Given the description of an element on the screen output the (x, y) to click on. 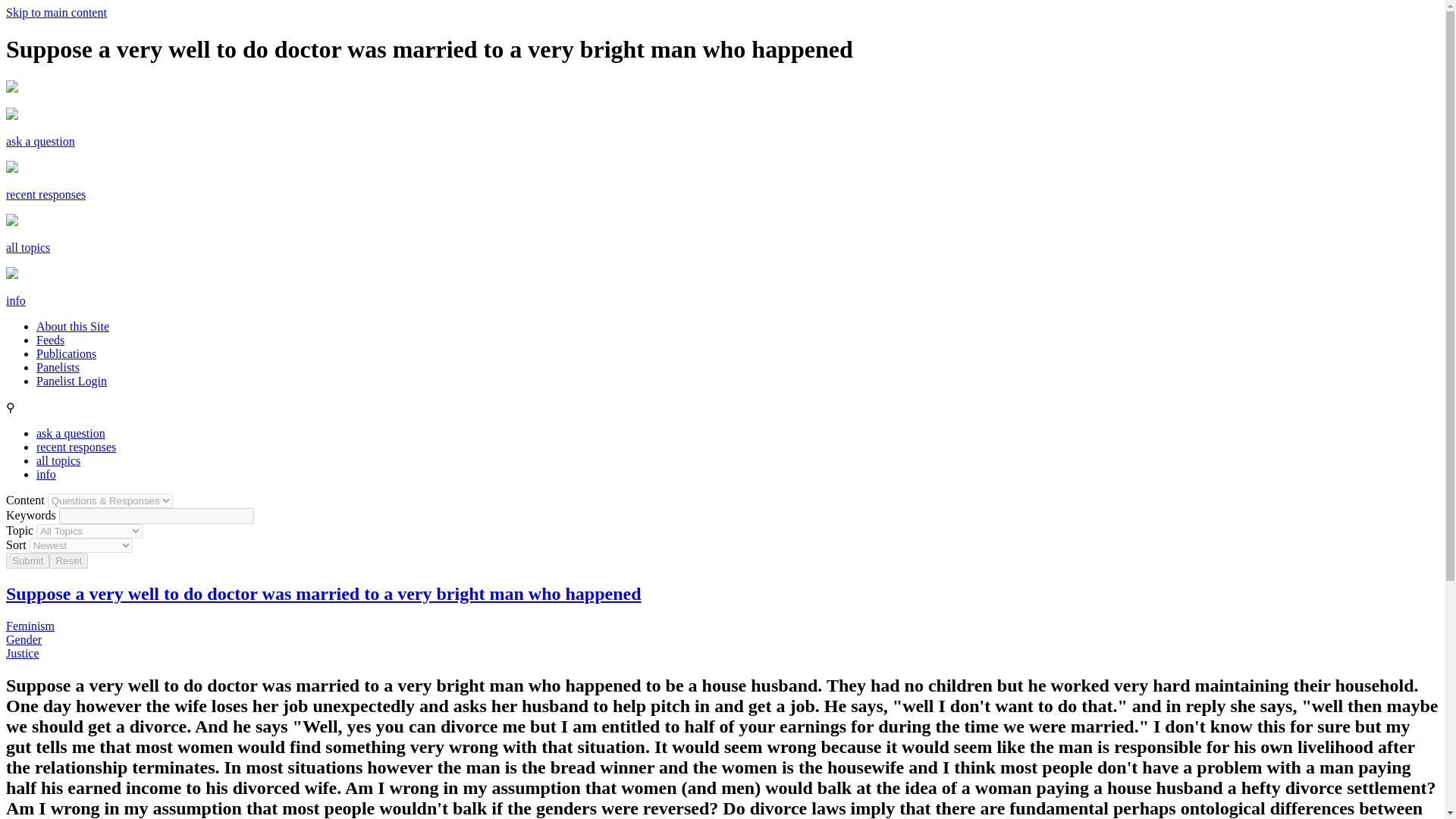
Feminism (30, 625)
ask a question (40, 141)
Gender (23, 639)
Reset (68, 560)
recent responses (76, 446)
Panelists (58, 367)
all topics (27, 246)
Justice (22, 653)
Feeds (50, 339)
recent responses (45, 194)
Submit (27, 560)
info (15, 300)
Publications (66, 353)
Submit (27, 560)
Skip to main content (55, 11)
